Given the description of an element on the screen output the (x, y) to click on. 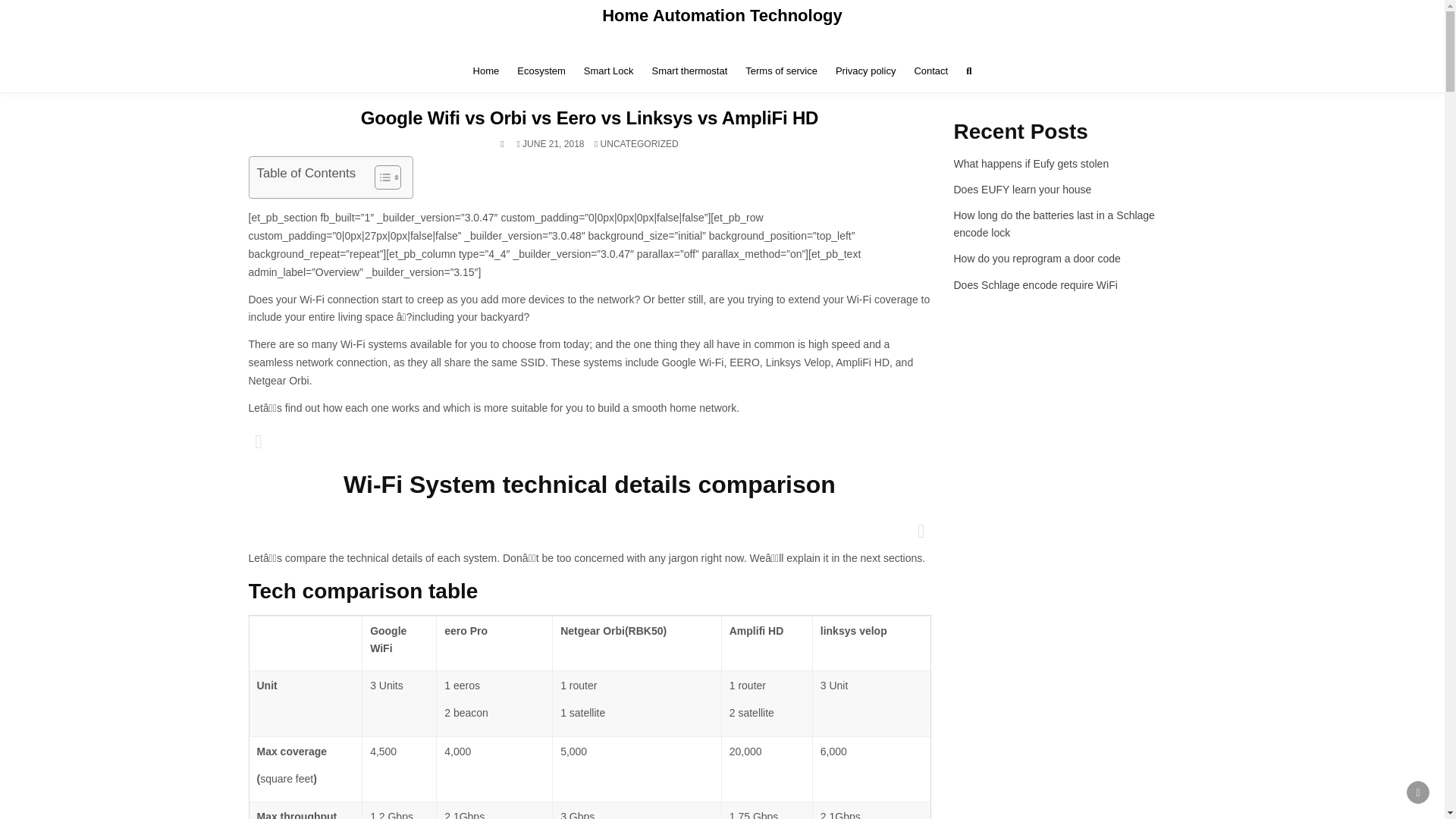
Home Automation Technology (722, 15)
Smart thermostat (689, 70)
Contact (930, 70)
Ecosystem (541, 70)
SCROLL TO TOP (1417, 792)
Privacy policy (865, 70)
Terms of service (781, 70)
Home (486, 70)
Google Wifi vs Orbi vs Eero vs Linksys vs AmpliFi HD (589, 117)
Smart Lock (609, 70)
